Given the description of an element on the screen output the (x, y) to click on. 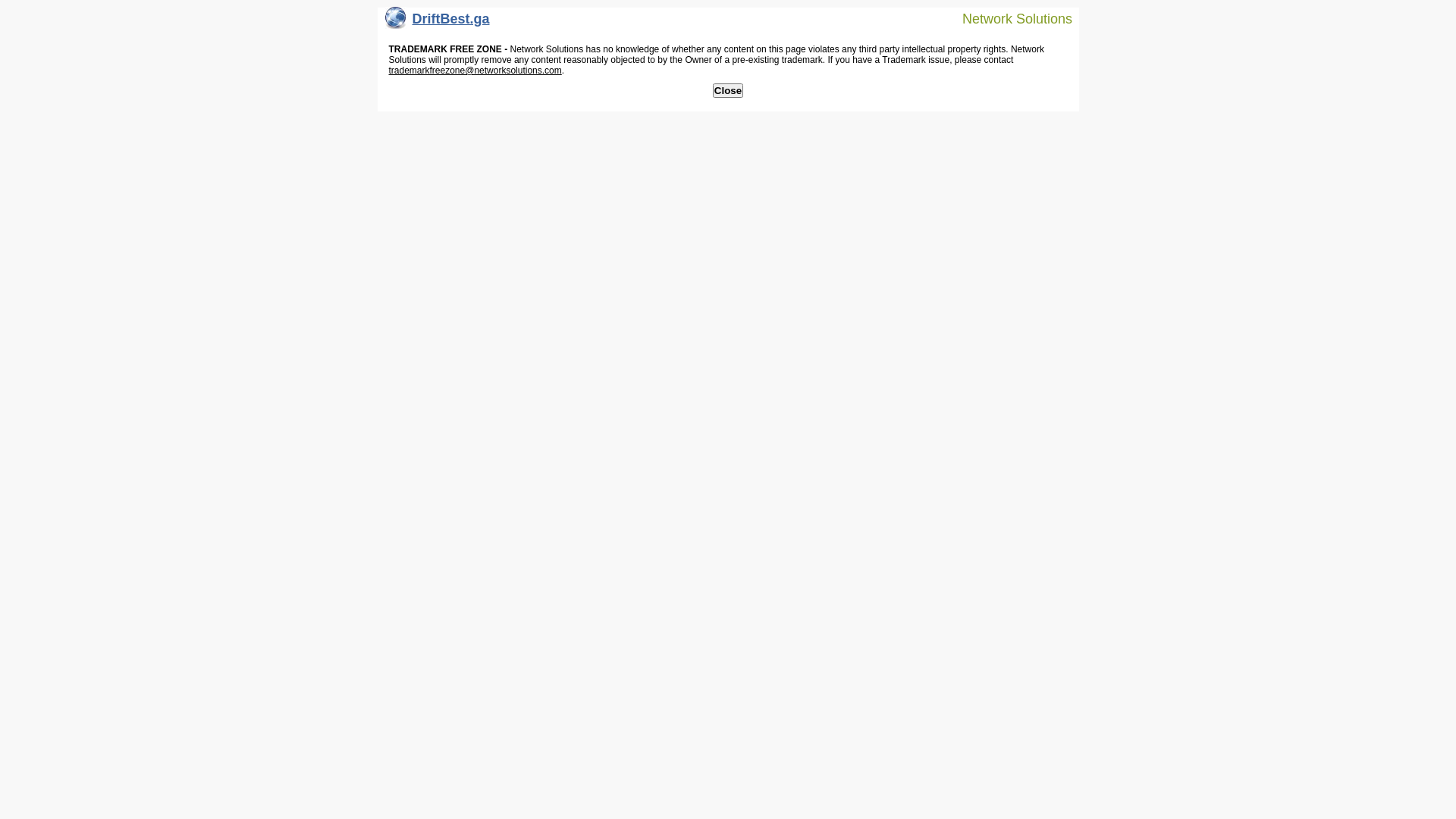
Close Element type: text (727, 90)
DriftBest.ga Element type: text (437, 21)
Network Solutions Element type: text (1007, 17)
trademarkfreezone@networksolutions.com Element type: text (474, 70)
